Given the description of an element on the screen output the (x, y) to click on. 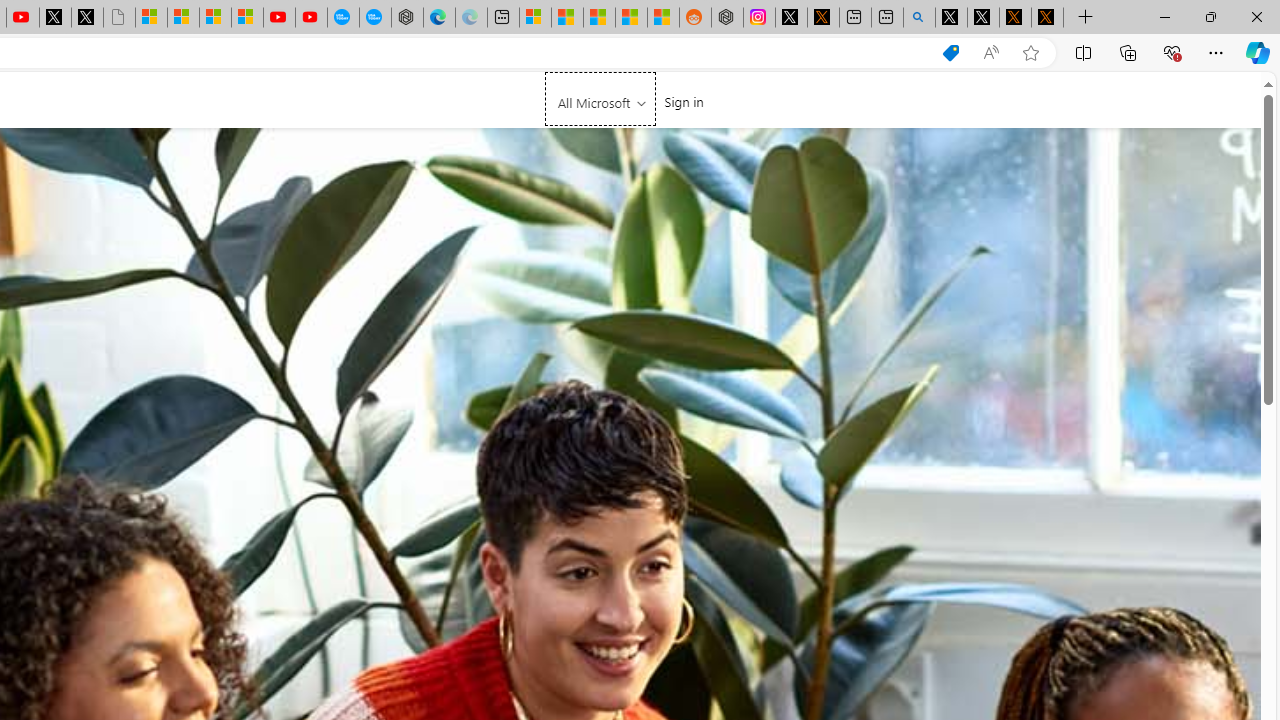
Shanghai, China hourly forecast | Microsoft Weather (599, 17)
Shopping in Microsoft Edge (950, 53)
Untitled (118, 17)
Log in to X / X (791, 17)
